Given the description of an element on the screen output the (x, y) to click on. 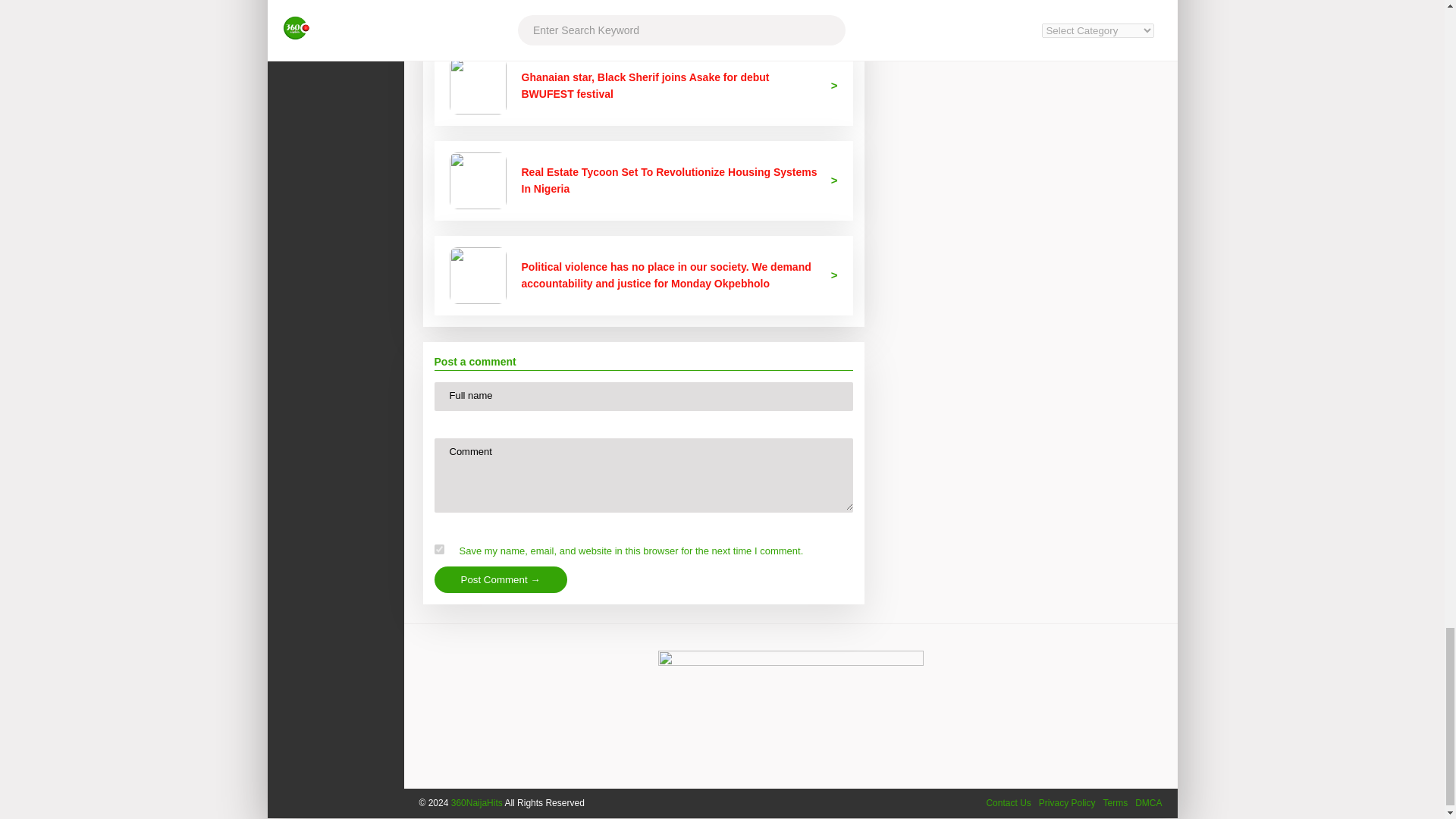
yes (438, 549)
